Given the description of an element on the screen output the (x, y) to click on. 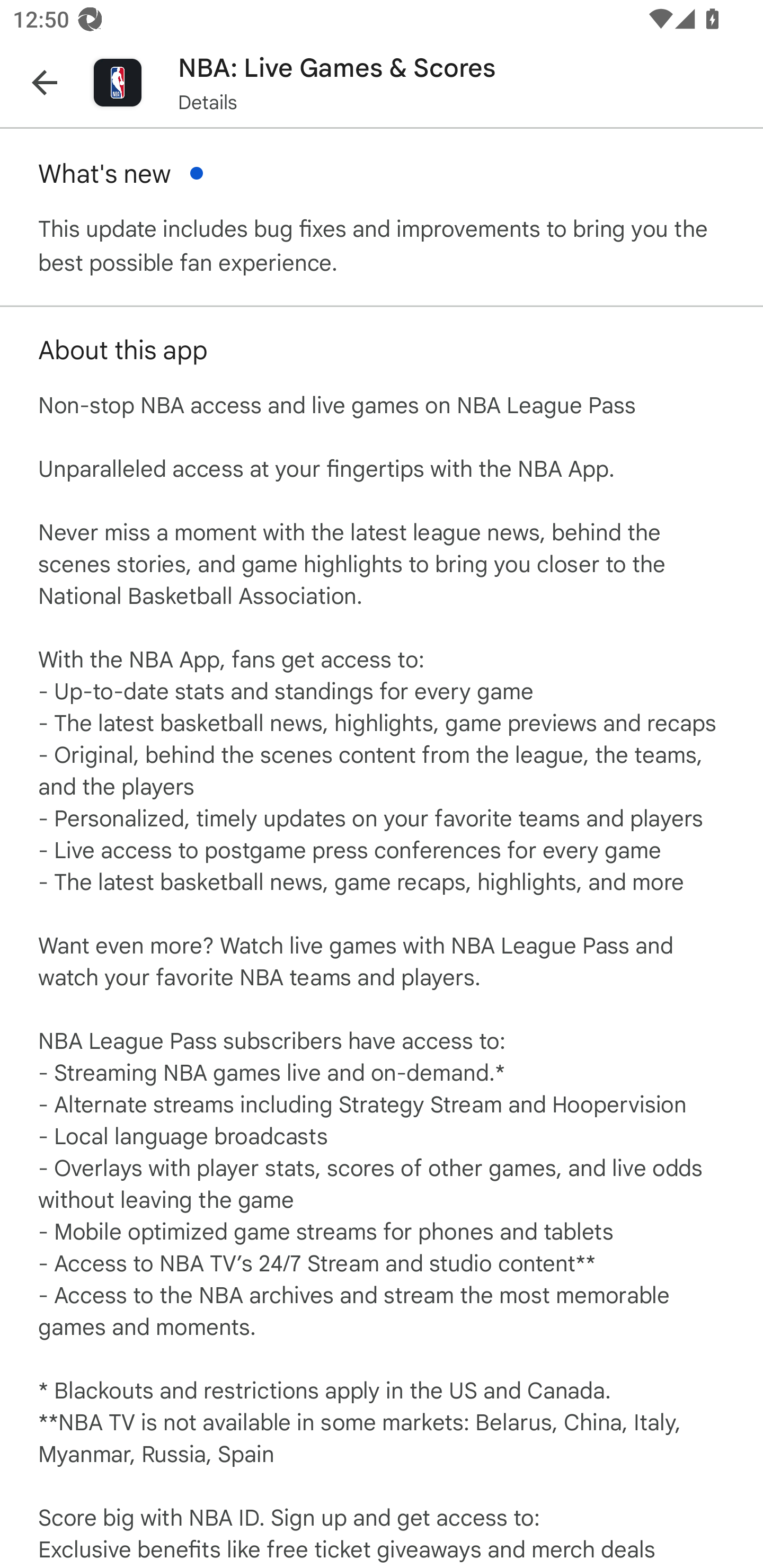
Navigate up (44, 82)
